Given the description of an element on the screen output the (x, y) to click on. 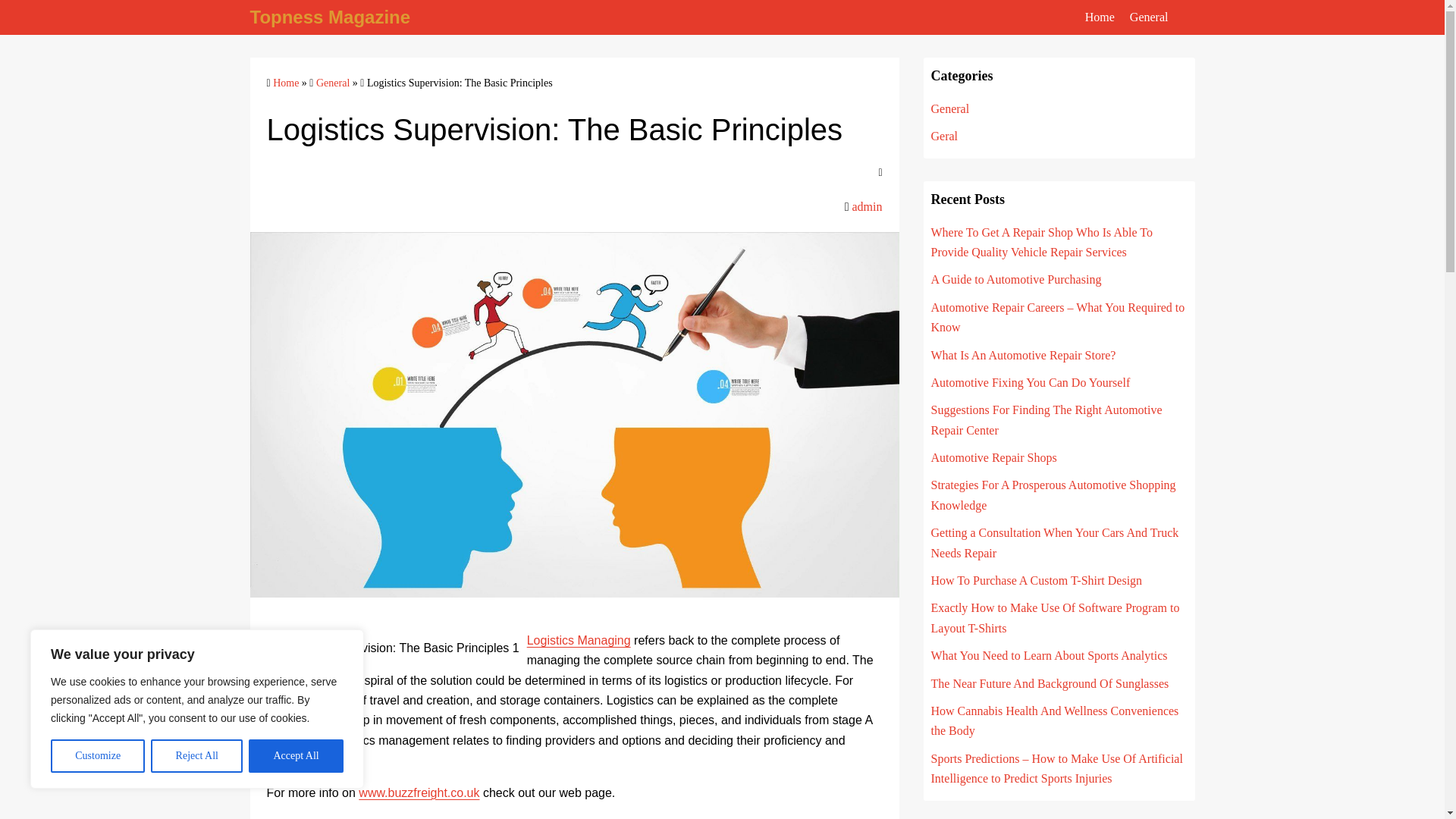
www.buzzfreight.co.uk (418, 792)
General (332, 82)
Customize (97, 756)
admin (866, 205)
General (1149, 17)
position (832, 818)
Home (285, 82)
General (950, 108)
Geral (944, 135)
Reject All (197, 756)
Topness Magazine (330, 16)
Accept All (295, 756)
Logistics Managing (578, 640)
